Given the description of an element on the screen output the (x, y) to click on. 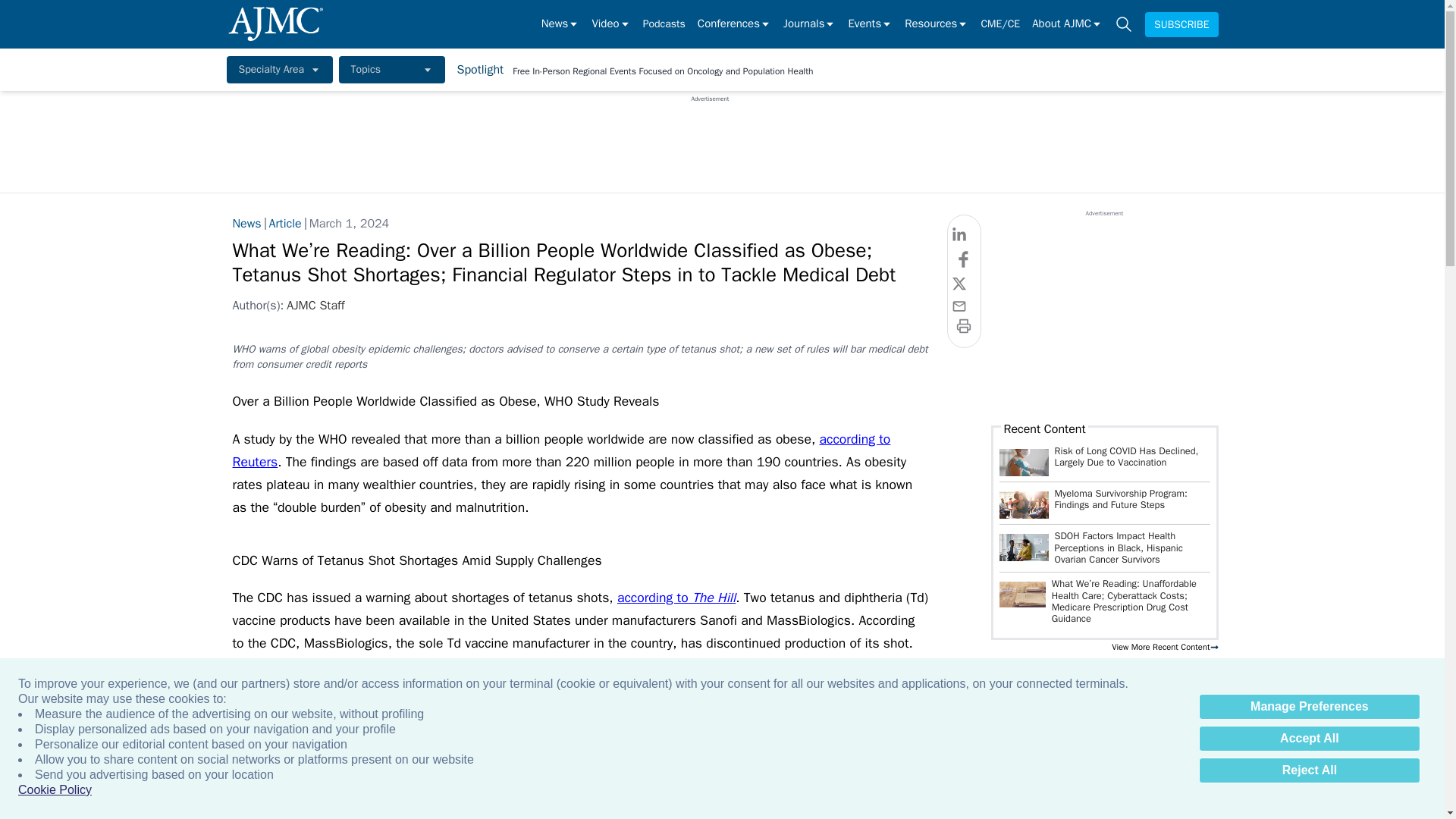
Cookie Policy (54, 789)
News (560, 24)
Reject All (1309, 769)
Video (610, 24)
WWR logo (1021, 594)
Conferences (734, 24)
Events (869, 24)
Journals (809, 24)
3rd party ad content (1103, 312)
Podcasts (664, 24)
Accept All (1309, 738)
Manage Preferences (1309, 706)
